Given the description of an element on the screen output the (x, y) to click on. 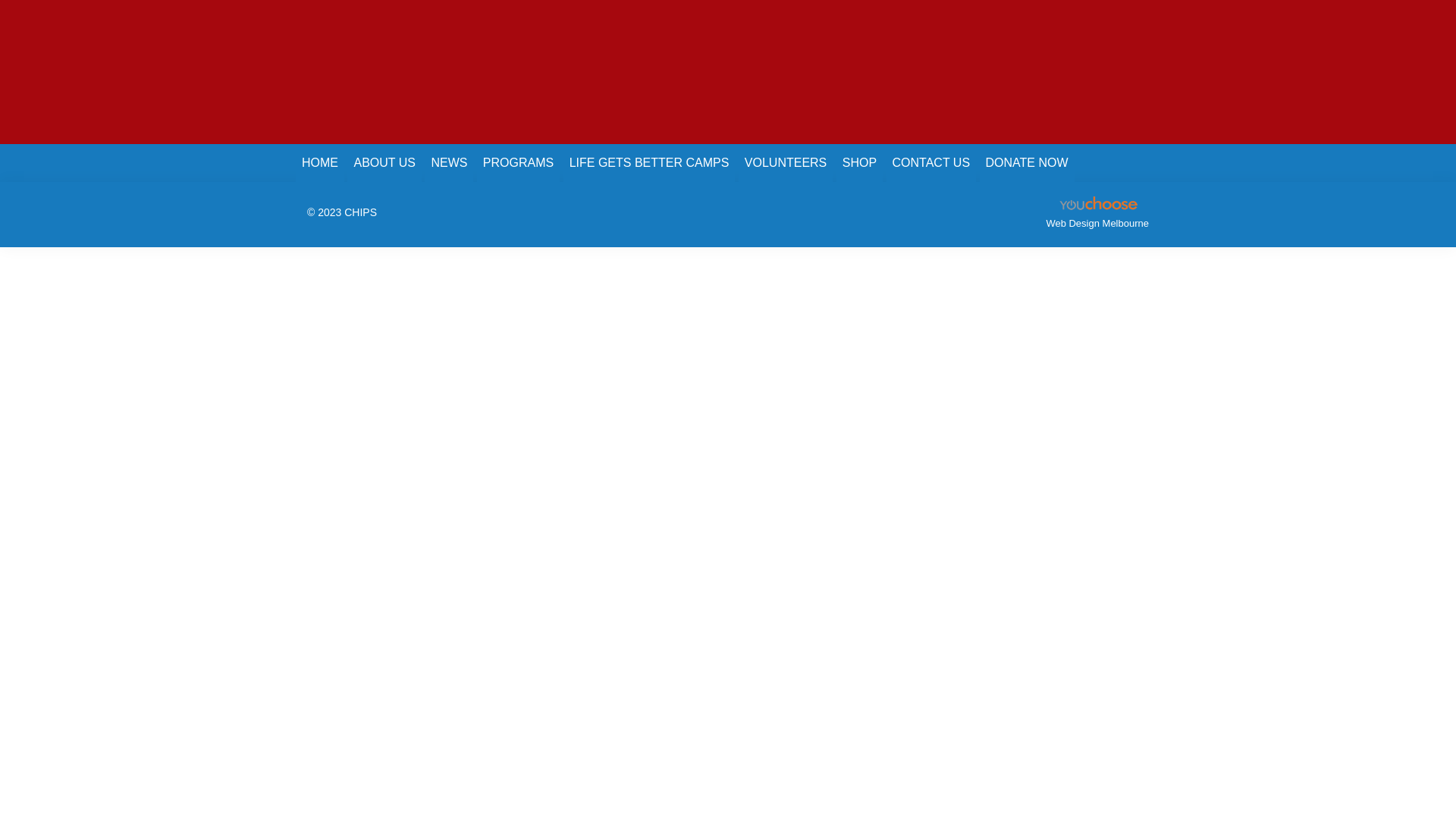
CONTACT US Element type: text (931, 163)
SHOP Element type: text (859, 163)
chips.org.au Element type: text (405, 71)
DONATE NOW Element type: text (1026, 163)
ABOUT US Element type: text (384, 163)
Web Design Melbourne Element type: text (1096, 223)
NEWS Element type: text (448, 163)
HOME Element type: text (319, 163)
PROGRAMS Element type: text (517, 163)
Skip to primary navigation Element type: text (0, 0)
LIFE GETS BETTER CAMPS Element type: text (649, 163)
VOLUNTEERS Element type: text (785, 163)
